Given the description of an element on the screen output the (x, y) to click on. 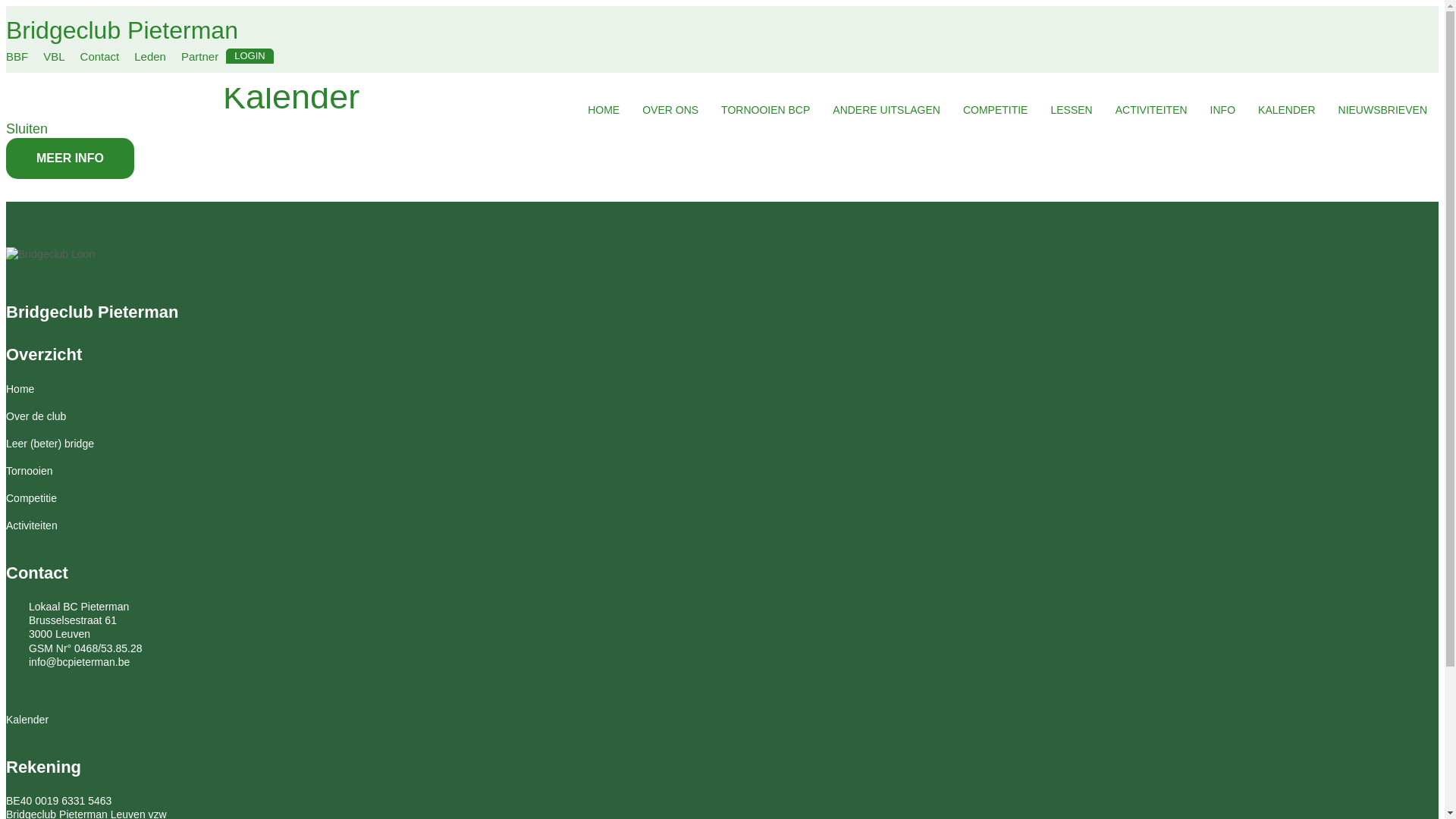
OVER ONS Element type: text (669, 110)
HOME Element type: text (603, 110)
Over de club Element type: text (35, 416)
Activiteiten Element type: text (31, 525)
KALENDER Element type: text (1286, 110)
ACTIVITEITEN Element type: text (1151, 110)
Tornooien Element type: text (29, 470)
Sluiten Element type: text (26, 128)
Contact Element type: text (99, 56)
info@bcpieterman.be Element type: text (67, 661)
Leer (beter) bridge Element type: text (50, 443)
TORNOOIEN BCP Element type: text (765, 110)
Bridge Club Pieterman Element type: hover (50, 254)
Leden Element type: text (150, 56)
LOGIN Element type: text (249, 56)
Kalender Element type: text (27, 719)
INFO Element type: text (1222, 110)
LESSEN Element type: text (1070, 110)
Partner Element type: text (199, 56)
VBL Element type: text (53, 56)
MEER INFO Element type: text (70, 158)
ANDERE UITSLAGEN Element type: text (886, 110)
NIEUWSBRIEVEN Element type: text (1382, 110)
COMPETITIE Element type: text (995, 110)
Competitie Element type: text (31, 498)
Home Element type: text (20, 388)
BBF Element type: text (17, 56)
